Given the description of an element on the screen output the (x, y) to click on. 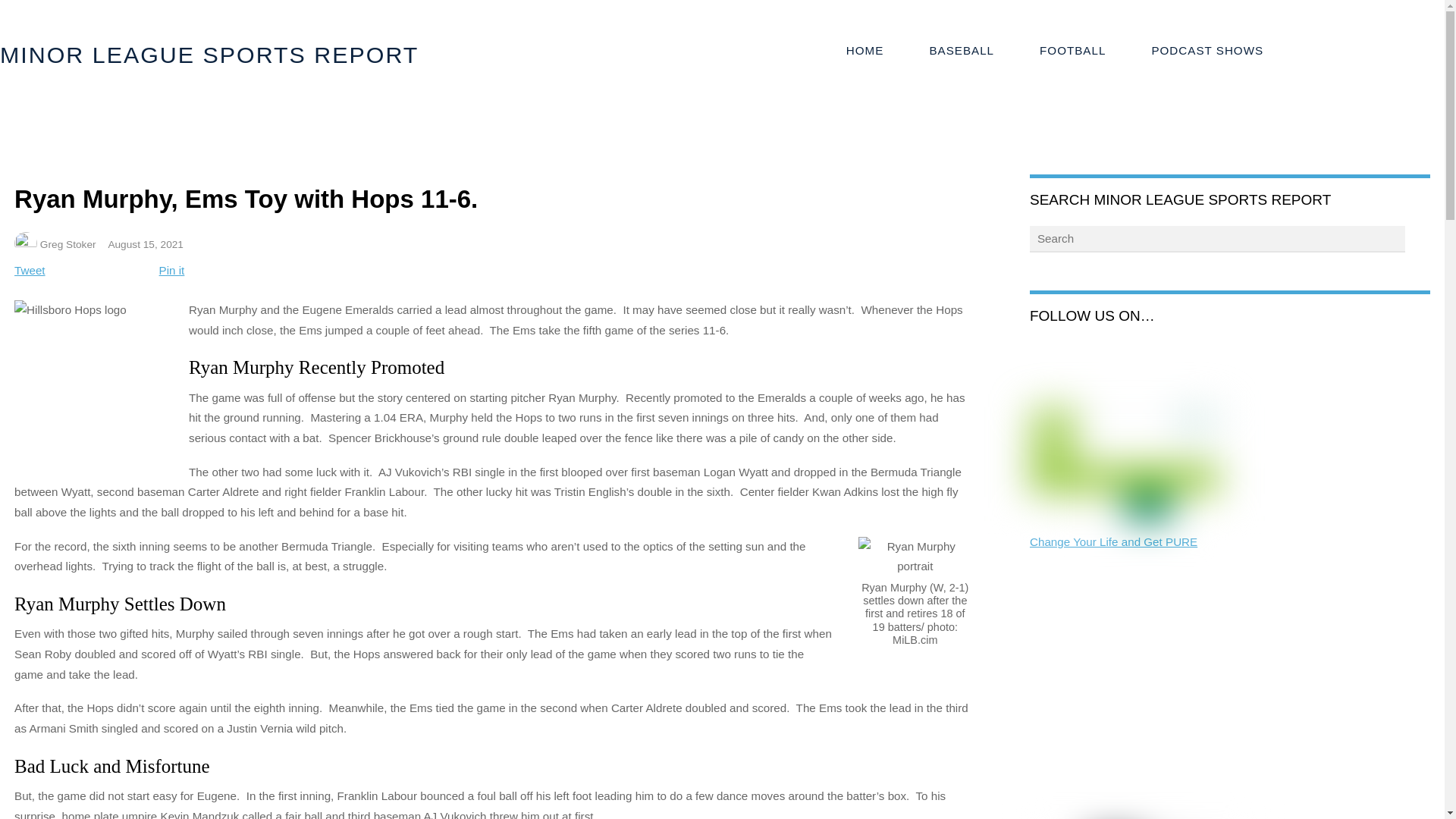
PODCAST SHOWS (1206, 50)
Pin it (171, 269)
Tweet (29, 269)
HOME (865, 50)
Minor League Sports Report (209, 54)
BASEBALL (960, 50)
Greg Stoker (68, 244)
Follow Us On... Facebook (1041, 354)
FOOTBALL (1072, 50)
MINOR LEAGUE SPORTS REPORT (209, 54)
